Given the description of an element on the screen output the (x, y) to click on. 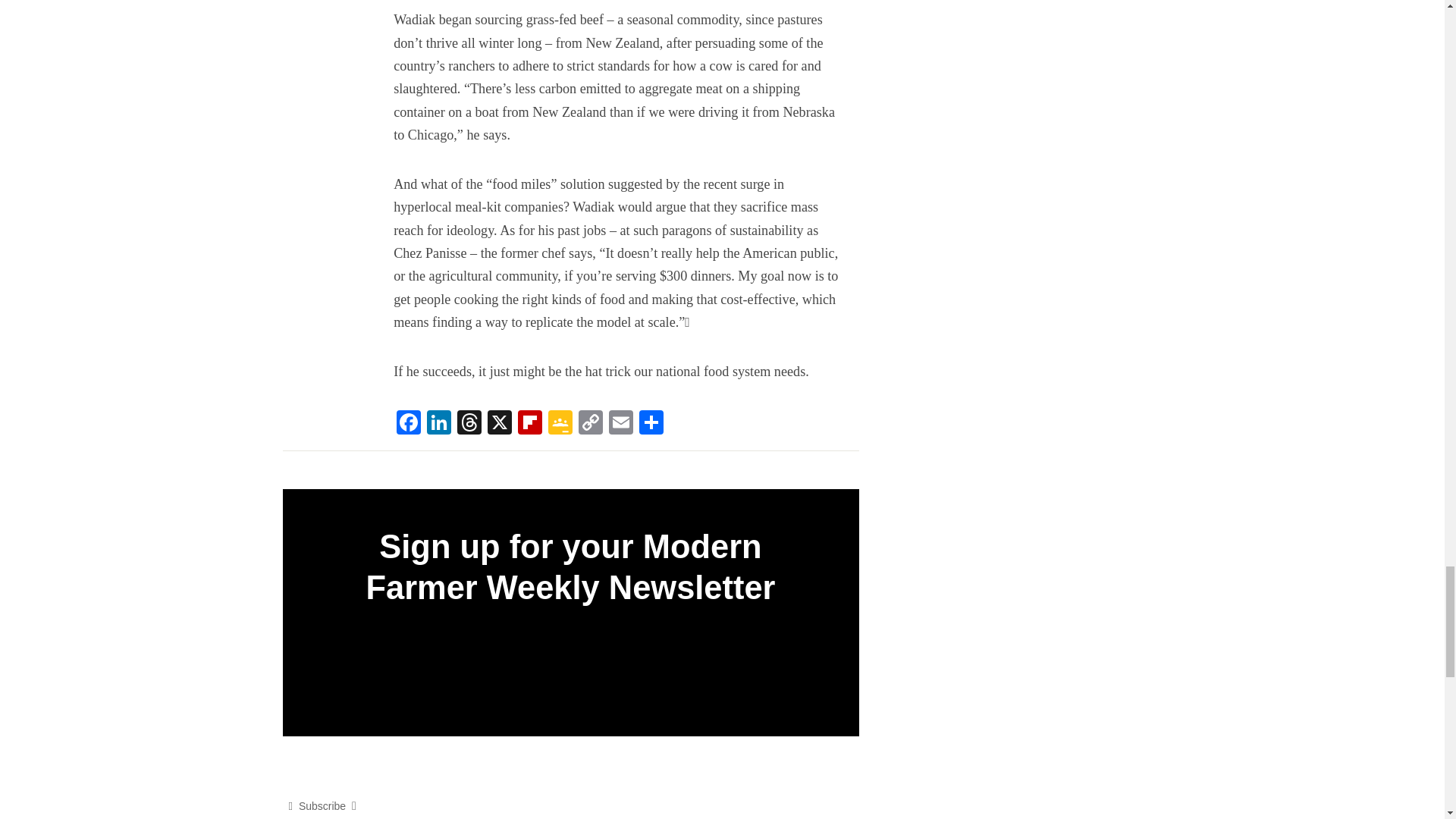
Threads (469, 424)
Email (620, 424)
Copy Link (590, 424)
Flipboard (529, 424)
LinkedIn (438, 424)
Facebook (408, 424)
Google Classroom (559, 424)
X (499, 424)
